Given the description of an element on the screen output the (x, y) to click on. 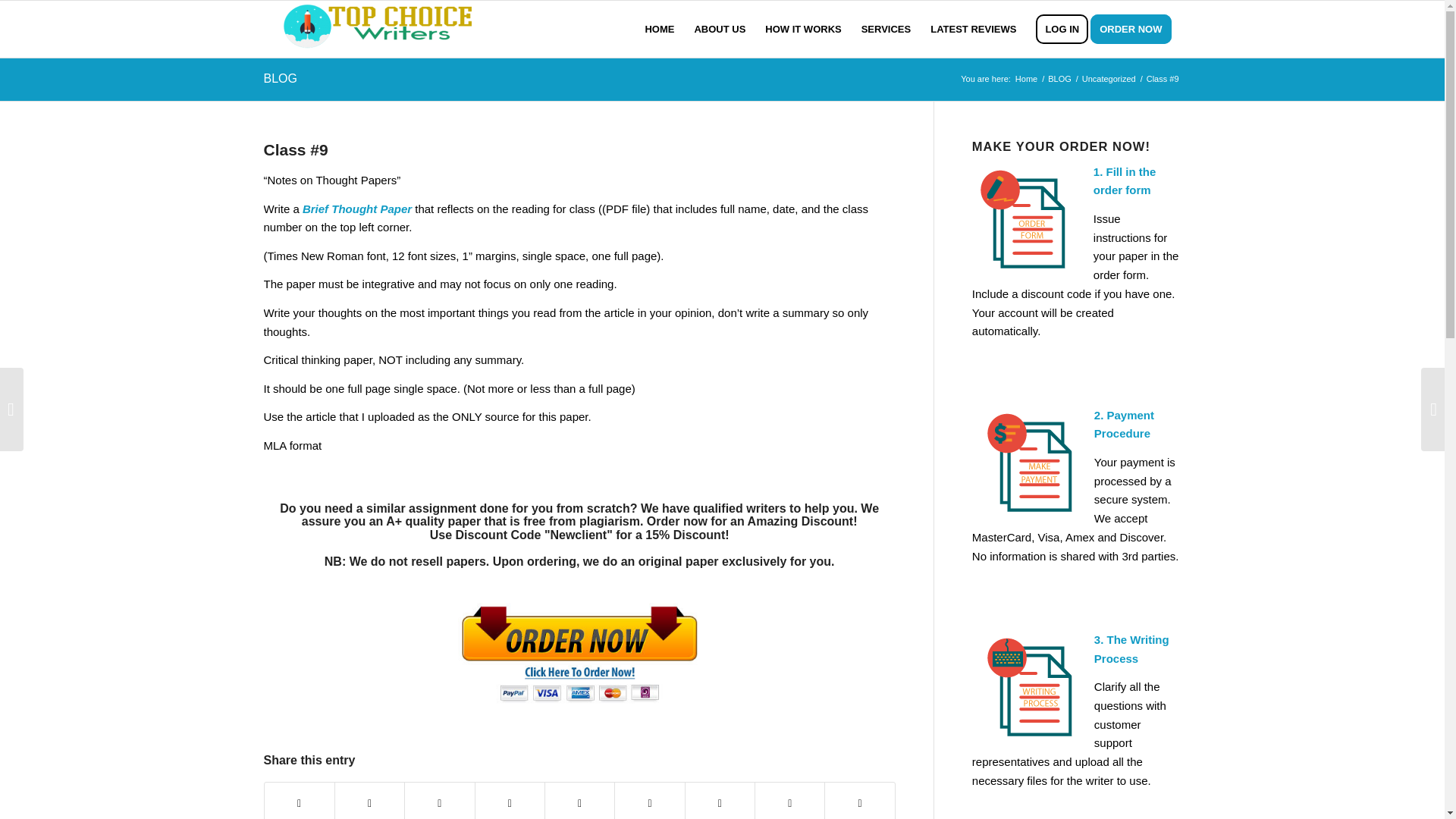
Permanent Link: BLOG (280, 78)
LATEST REVIEWS (973, 28)
LOG IN (1061, 28)
Uncategorized (1109, 79)
SERVICES (886, 28)
BLOG (1059, 79)
HOW IT WORKS (802, 28)
Home (1026, 79)
ORDER NOW (1135, 28)
ABOUT US (719, 28)
